Given the description of an element on the screen output the (x, y) to click on. 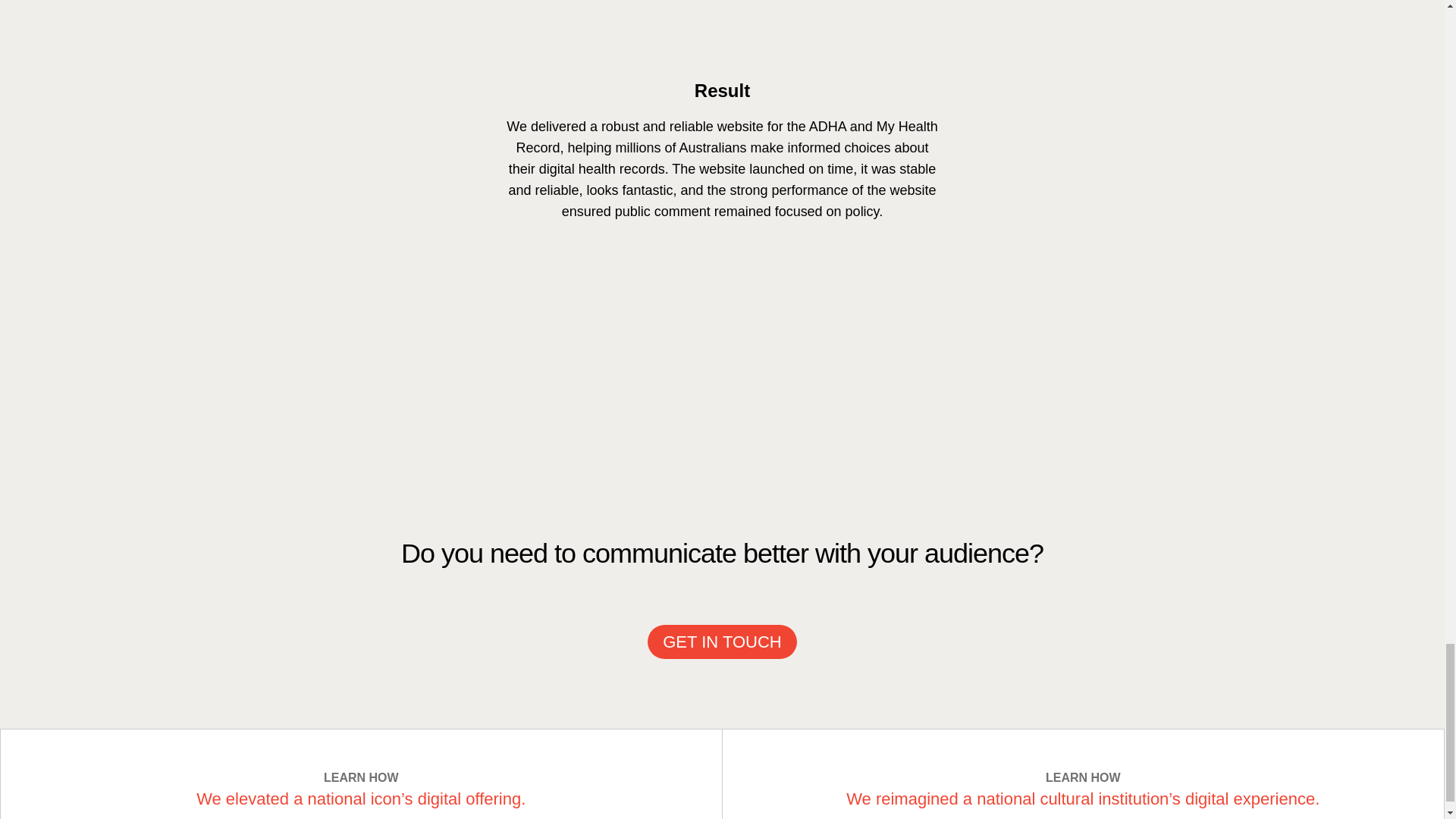
GET IN TOUCH (721, 641)
